Given the description of an element on the screen output the (x, y) to click on. 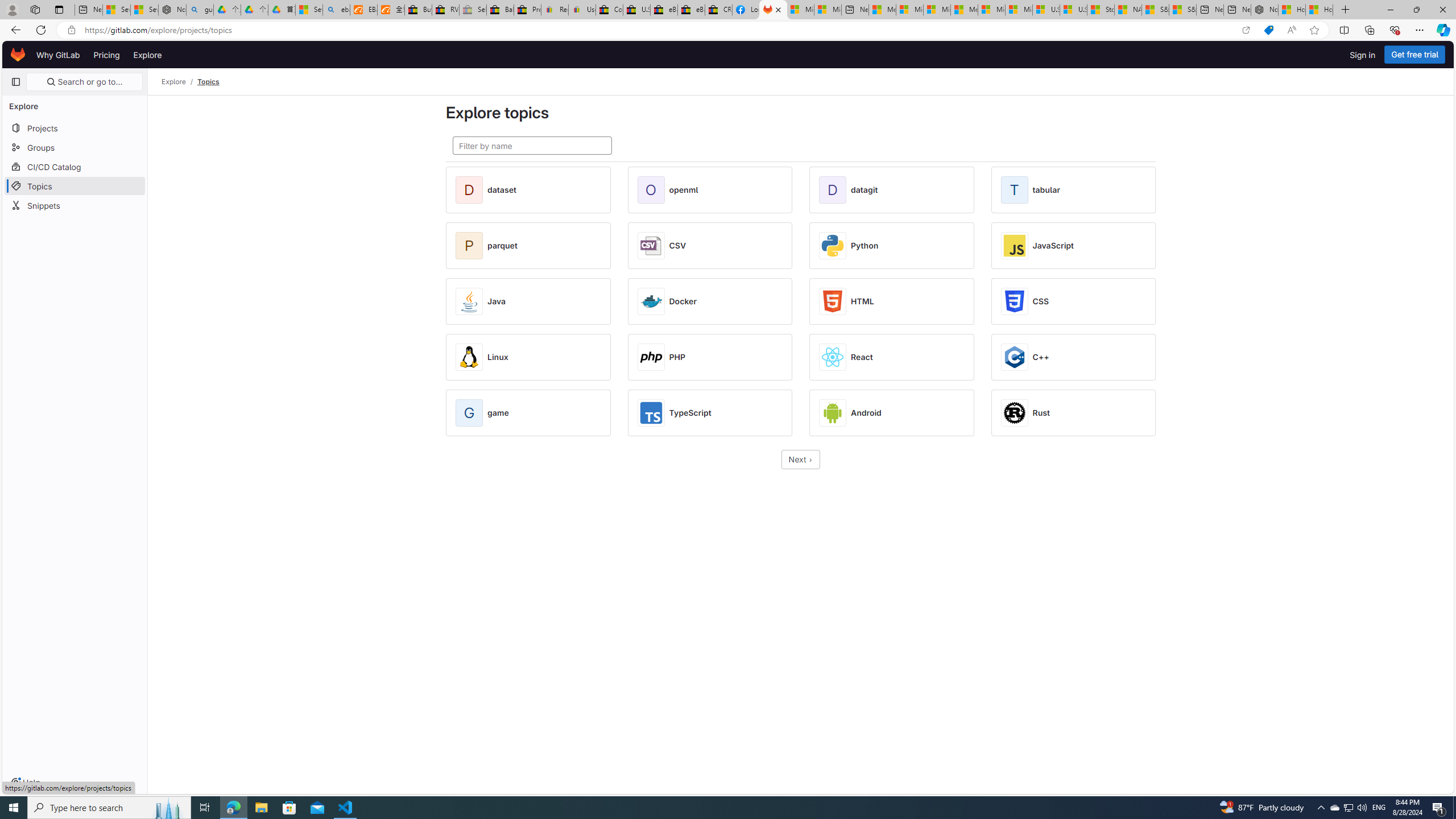
Pricing (106, 54)
U.S. State Privacy Disclosures - eBay Inc. (636, 9)
Projects (74, 127)
Shopping in Microsoft Edge (1268, 29)
How to Use a Monitor With Your Closed Laptop (1319, 9)
D (834, 189)
Sign in (1362, 54)
eBay Inc. Reports Third Quarter 2023 Results (691, 9)
Explore/ (179, 81)
